Given the description of an element on the screen output the (x, y) to click on. 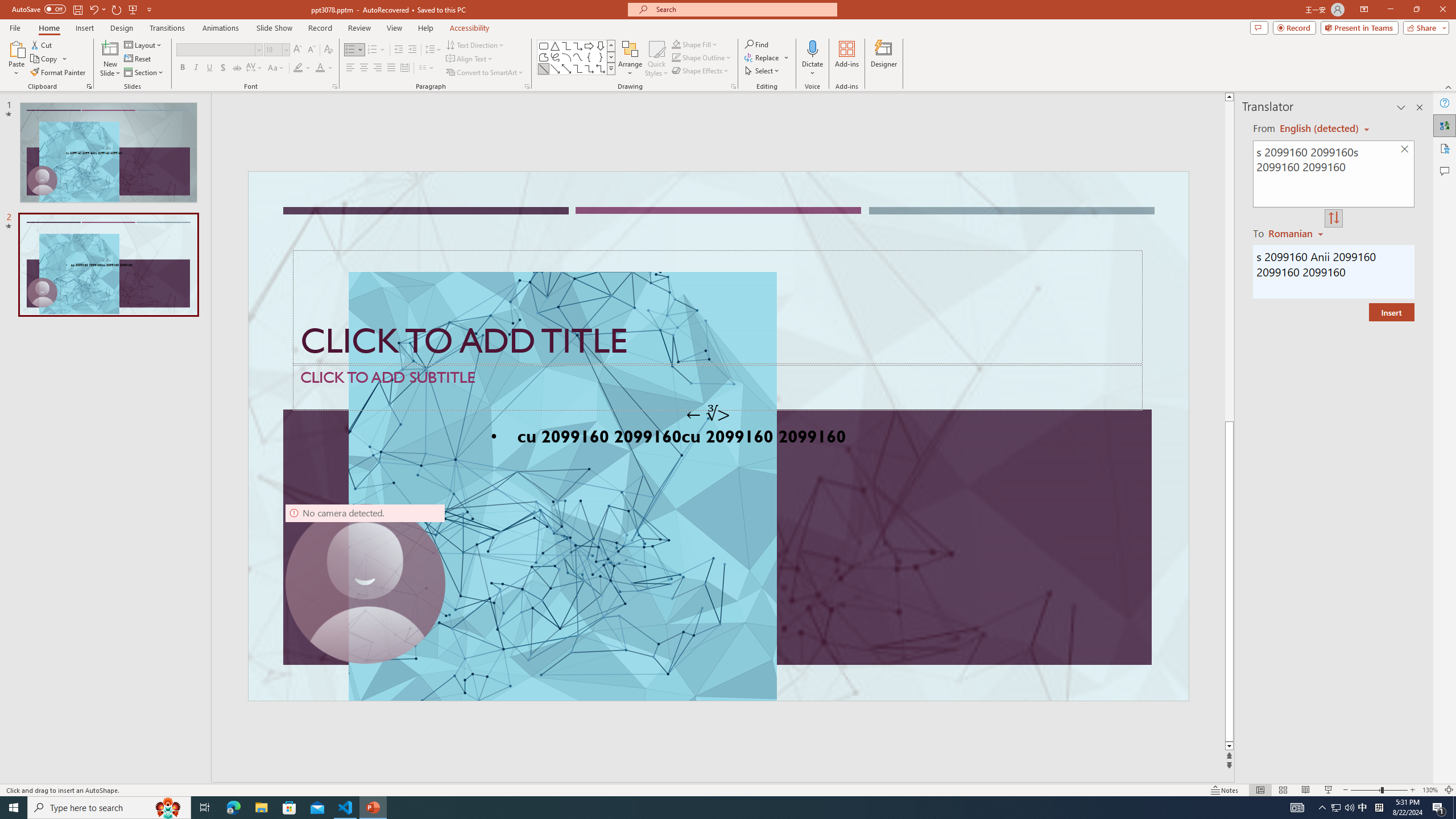
Czech (detected) (1319, 128)
